Given the description of an element on the screen output the (x, y) to click on. 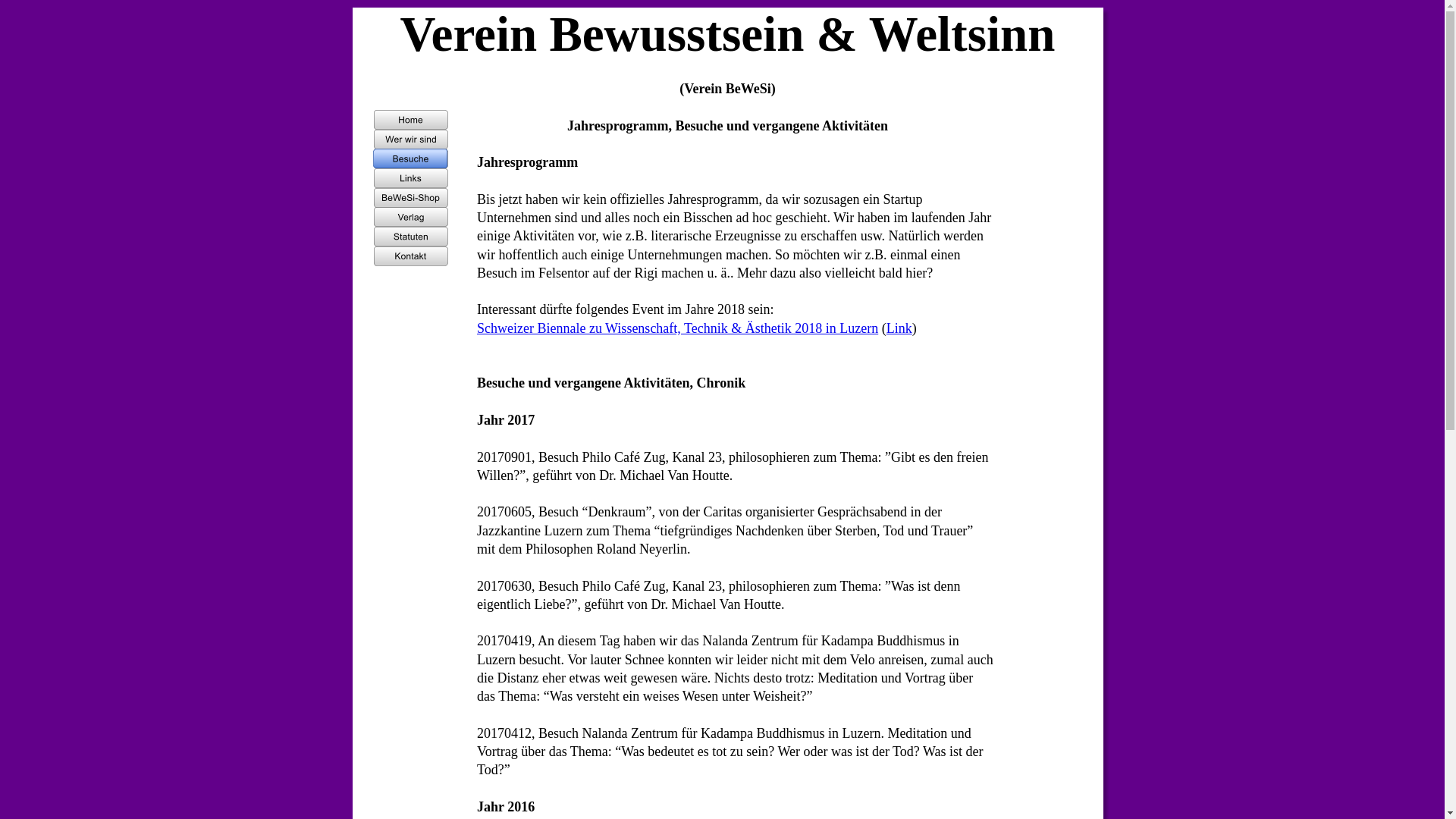
Link Element type: text (899, 327)
